Given the description of an element on the screen output the (x, y) to click on. 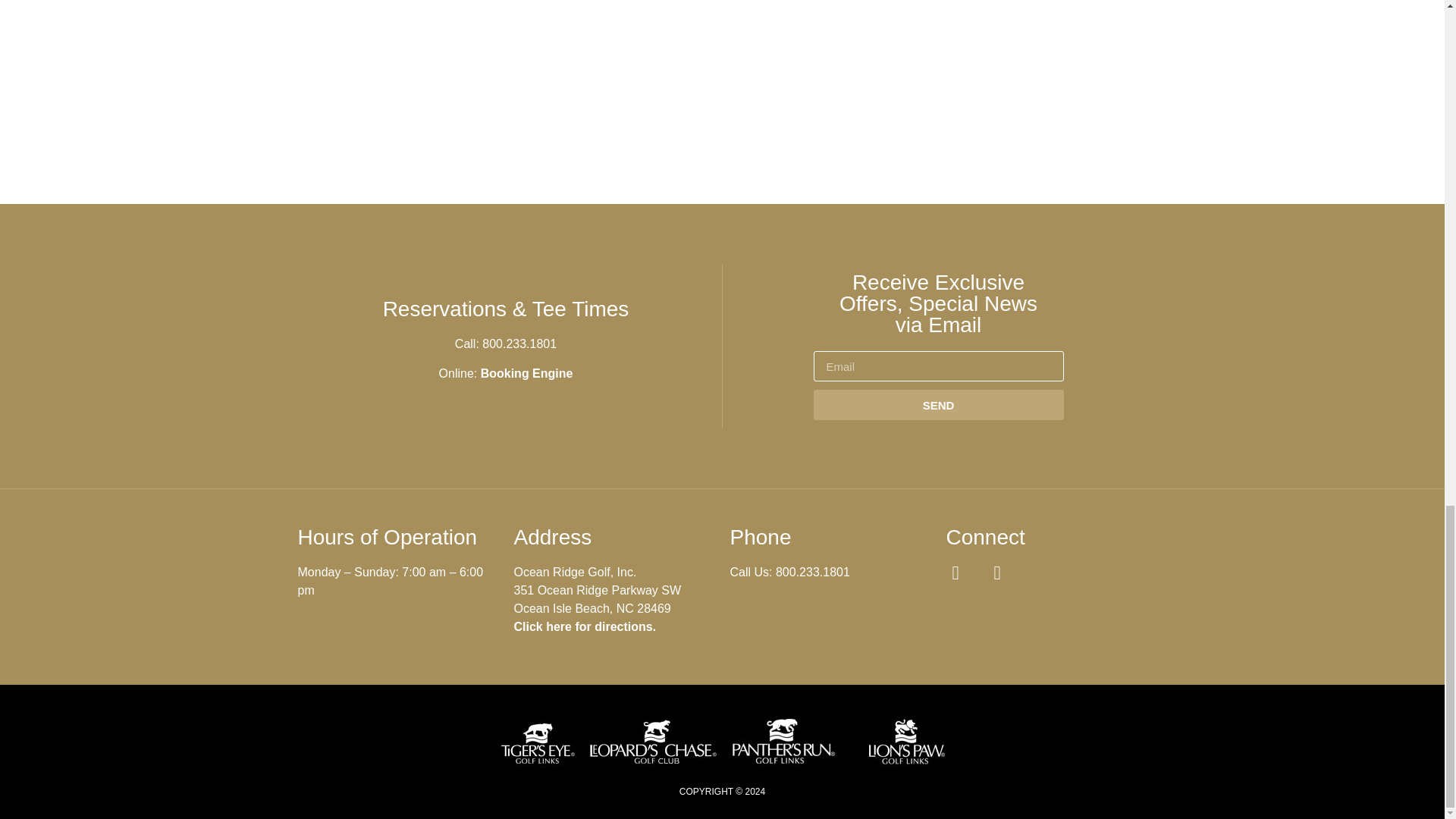
Click here for directions. (584, 626)
SEND (937, 404)
Booking Engine (526, 373)
